Given the description of an element on the screen output the (x, y) to click on. 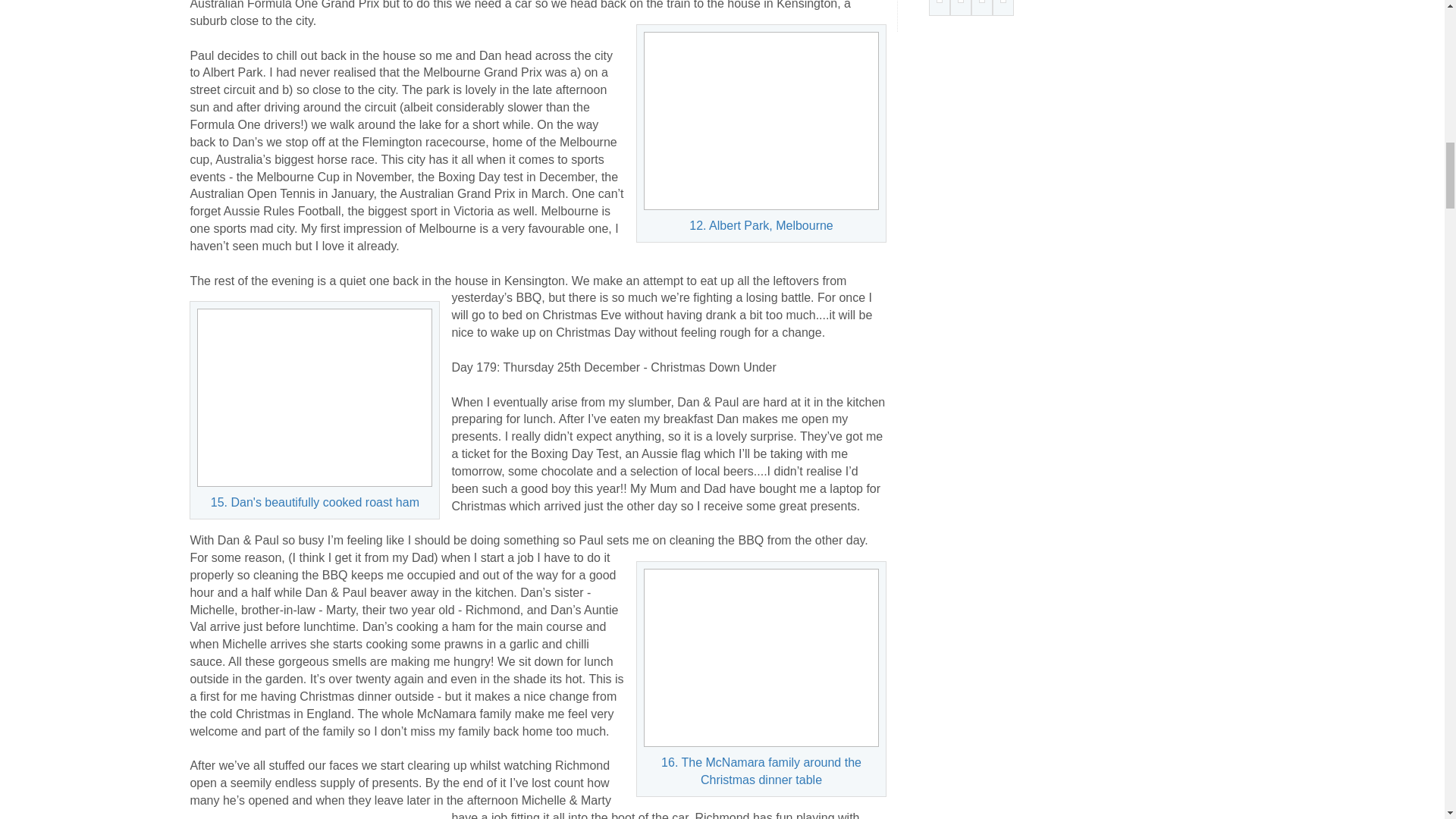
15. Dan's beautifully cooked roast ham (314, 397)
12. Albert Park, Melbourne (761, 120)
